Given the description of an element on the screen output the (x, y) to click on. 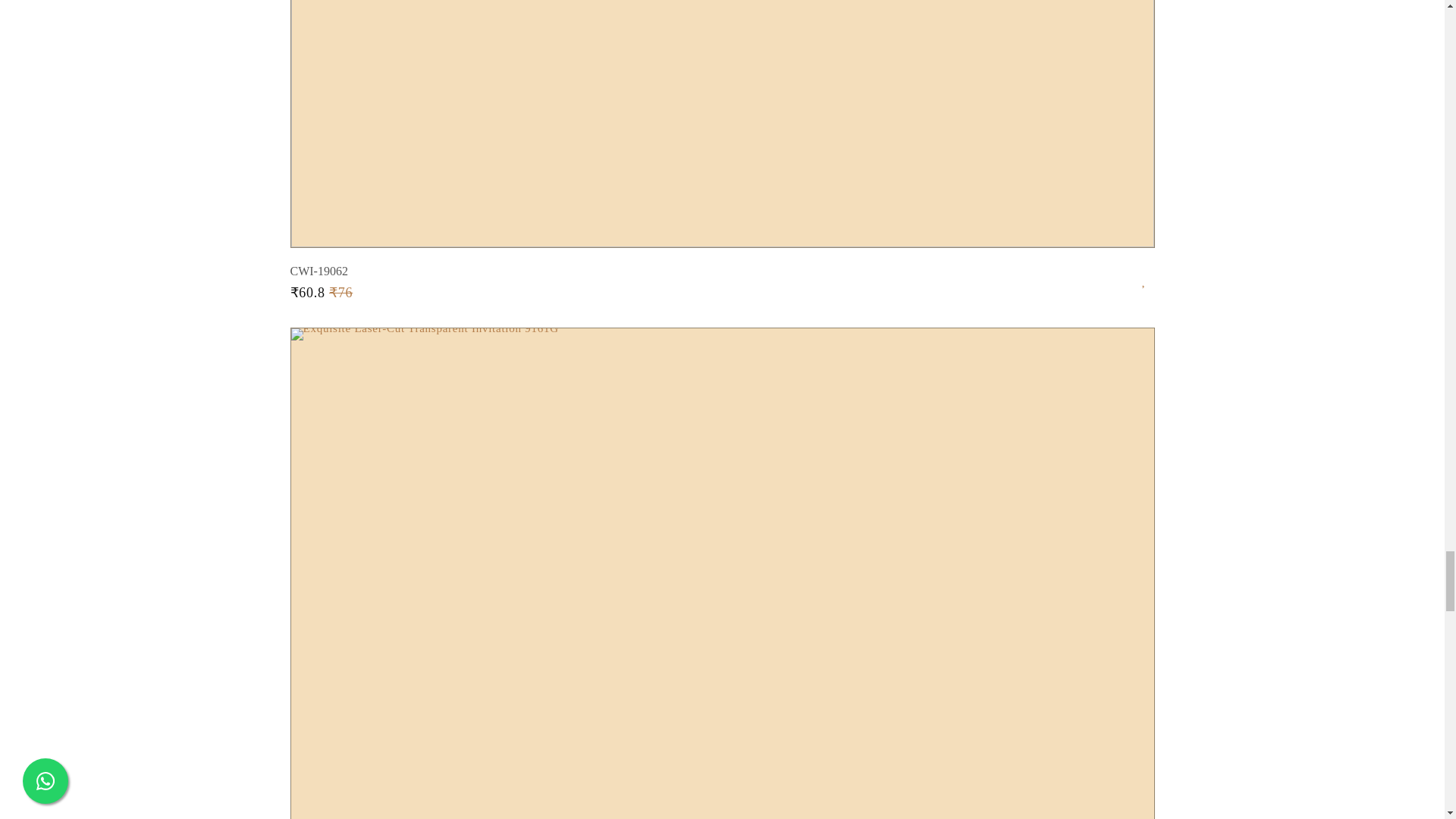
Add to Wishlist (1147, 276)
